Given the description of an element on the screen output the (x, y) to click on. 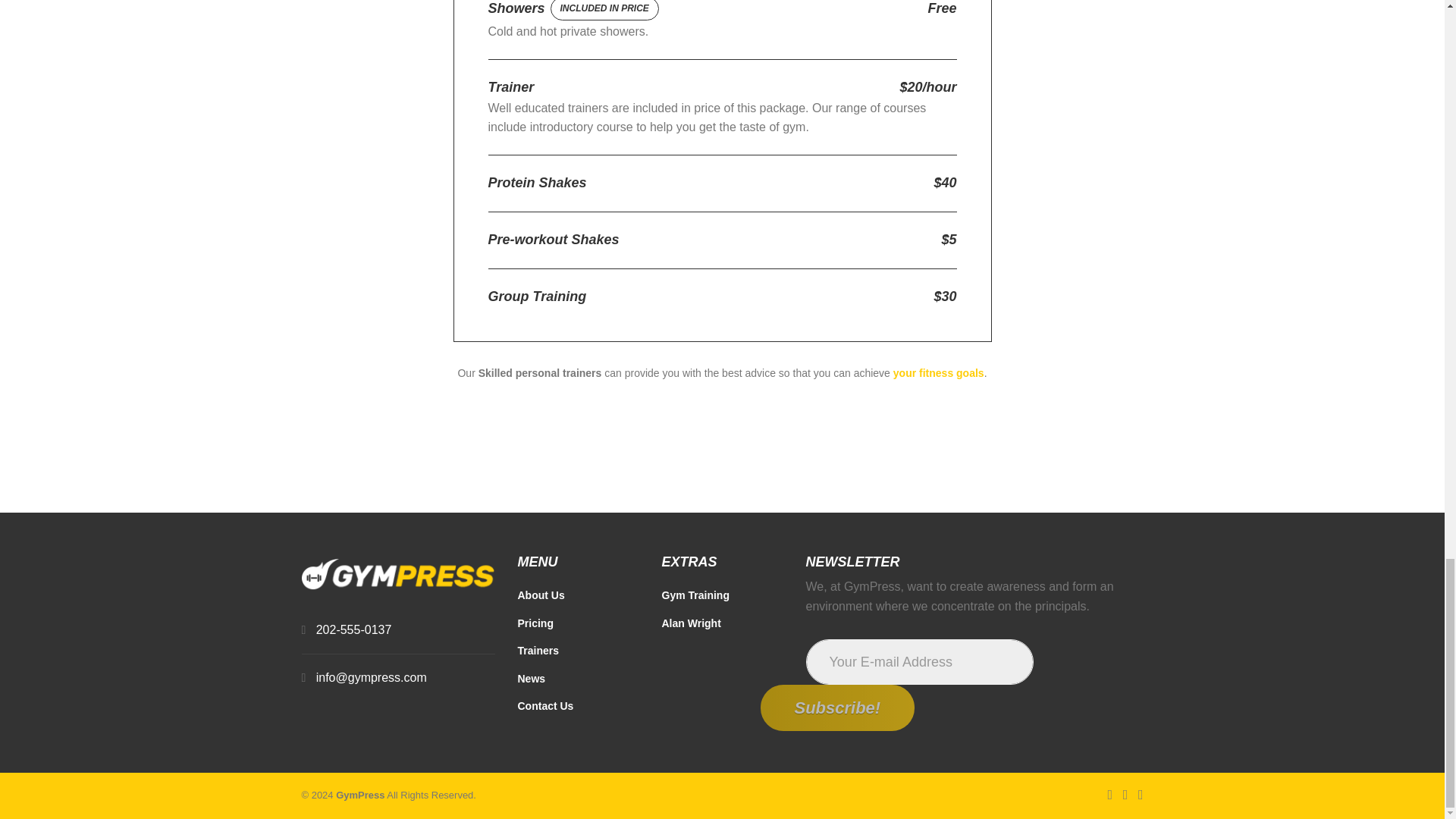
Trainers (577, 655)
your fitness goals (936, 372)
About Us (577, 600)
Gym Training (722, 600)
News (577, 683)
Subscribe! (837, 707)
Alan Wright (722, 628)
Pricing (577, 628)
Subscribe! (837, 707)
GymPress (360, 794)
Contact Us (577, 710)
